Given the description of an element on the screen output the (x, y) to click on. 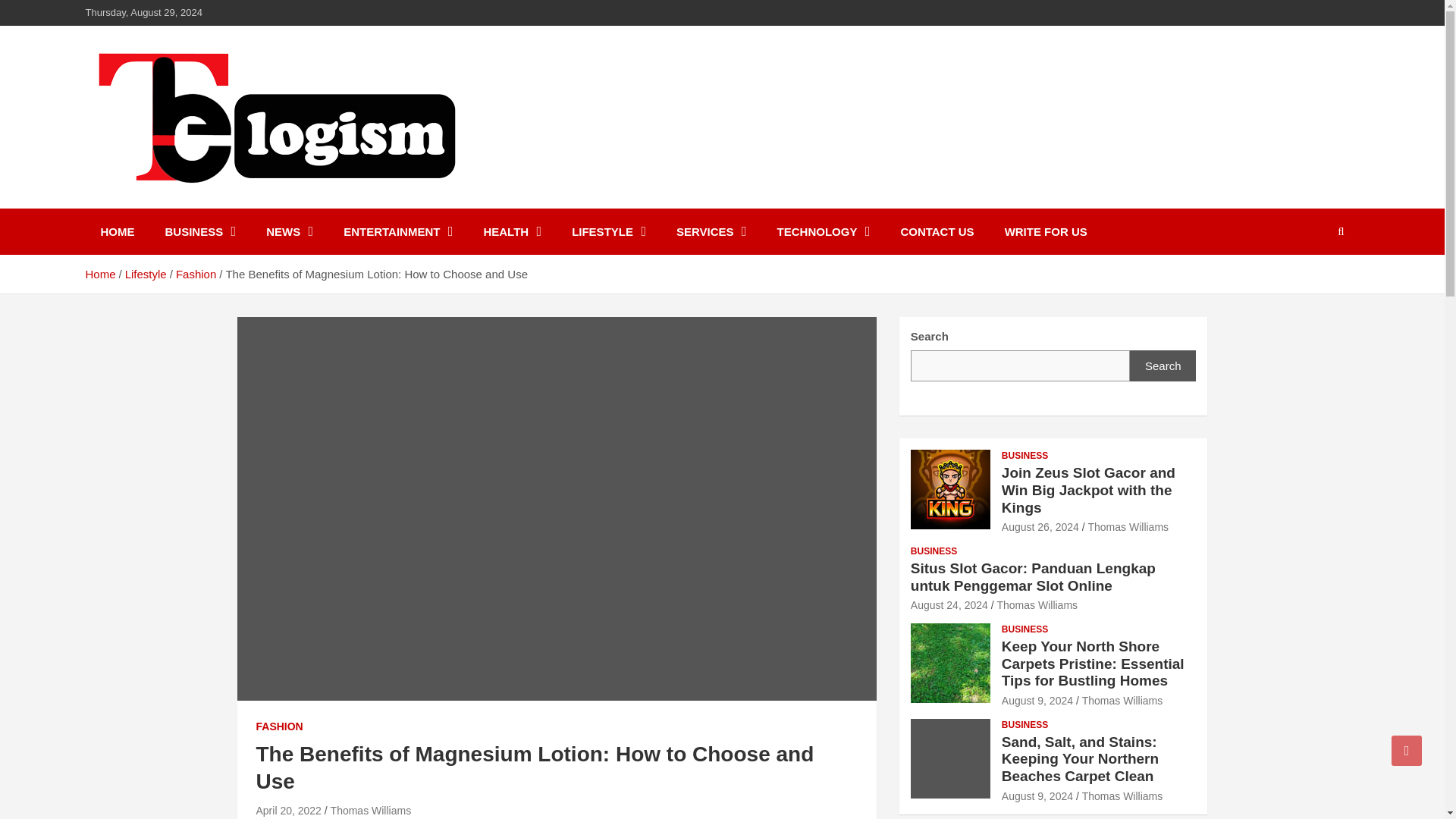
BUSINESS (200, 231)
NEWS (289, 231)
SERVICES (711, 231)
Join Zeus Slot Gacor and Win Big Jackpot with the Kings (1039, 526)
ENTERTAINMENT (398, 231)
The Blogism (175, 205)
LIFESTYLE (608, 231)
